Given the description of an element on the screen output the (x, y) to click on. 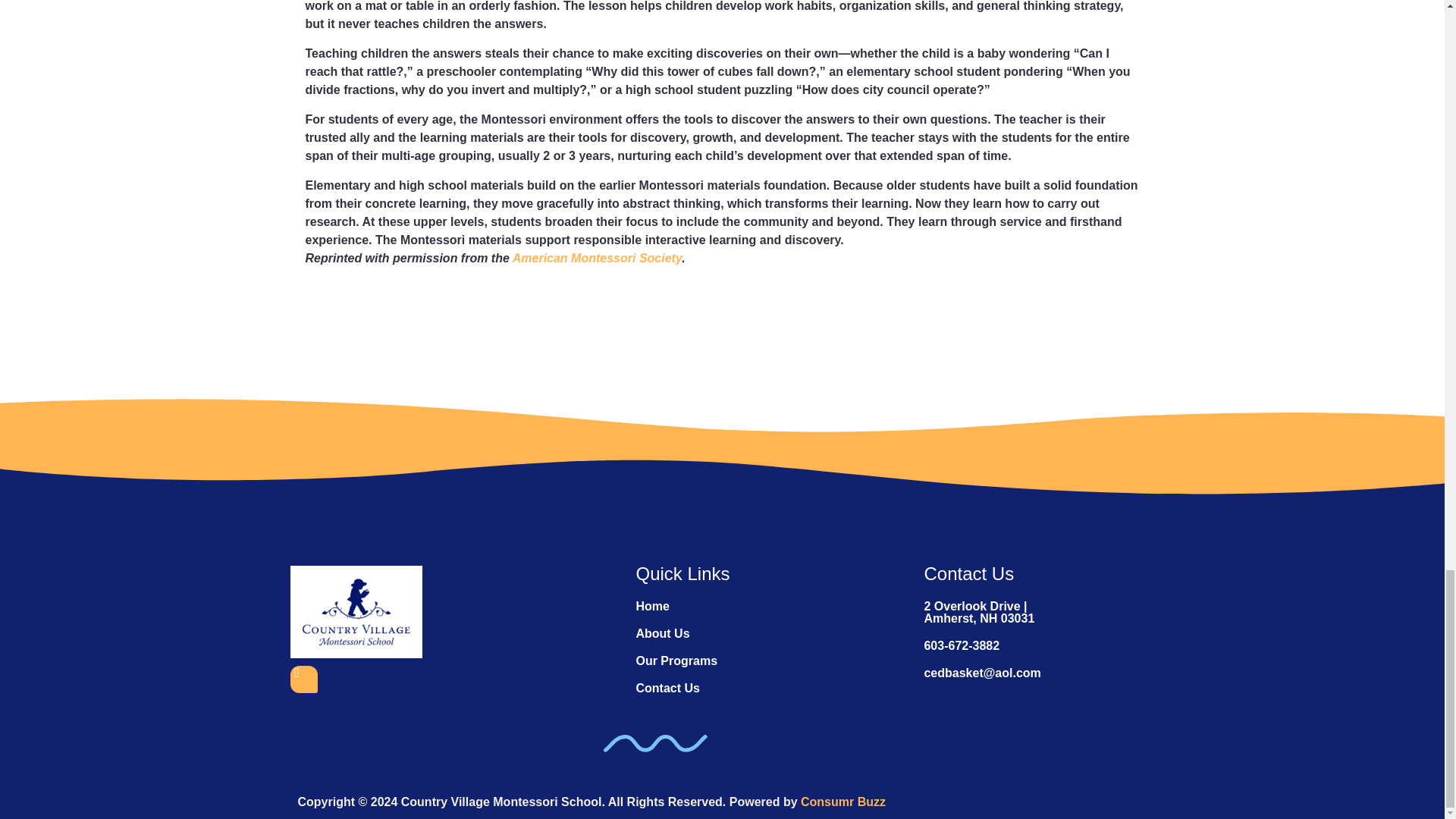
Home (651, 605)
Our Programs (675, 660)
Contact Us (666, 687)
About Us (661, 633)
603-672-3882 (960, 645)
American Montessori Society (596, 257)
Facebook (303, 678)
Consumr Buzz (842, 801)
